Given the description of an element on the screen output the (x, y) to click on. 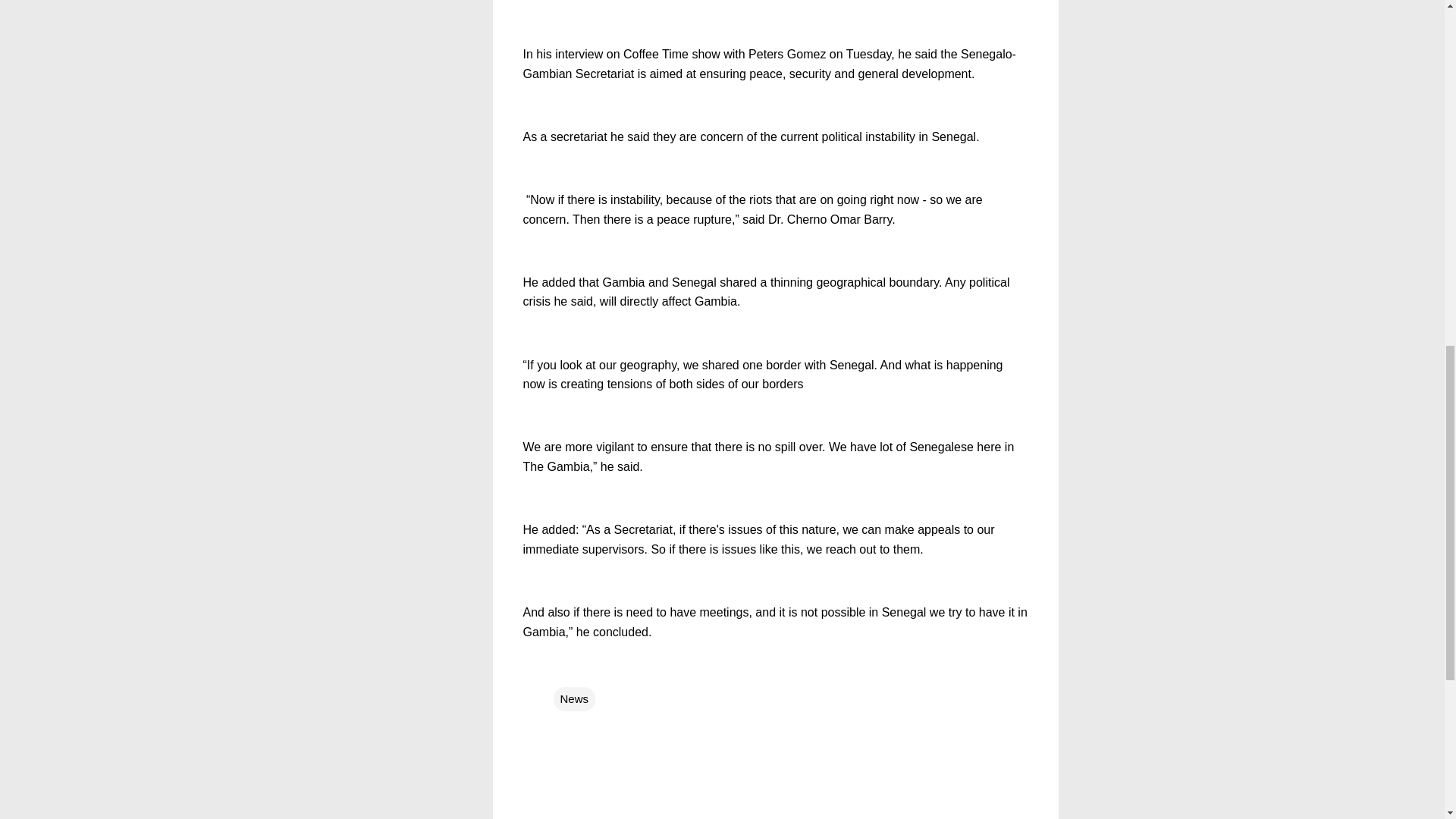
News (574, 699)
